Given the description of an element on the screen output the (x, y) to click on. 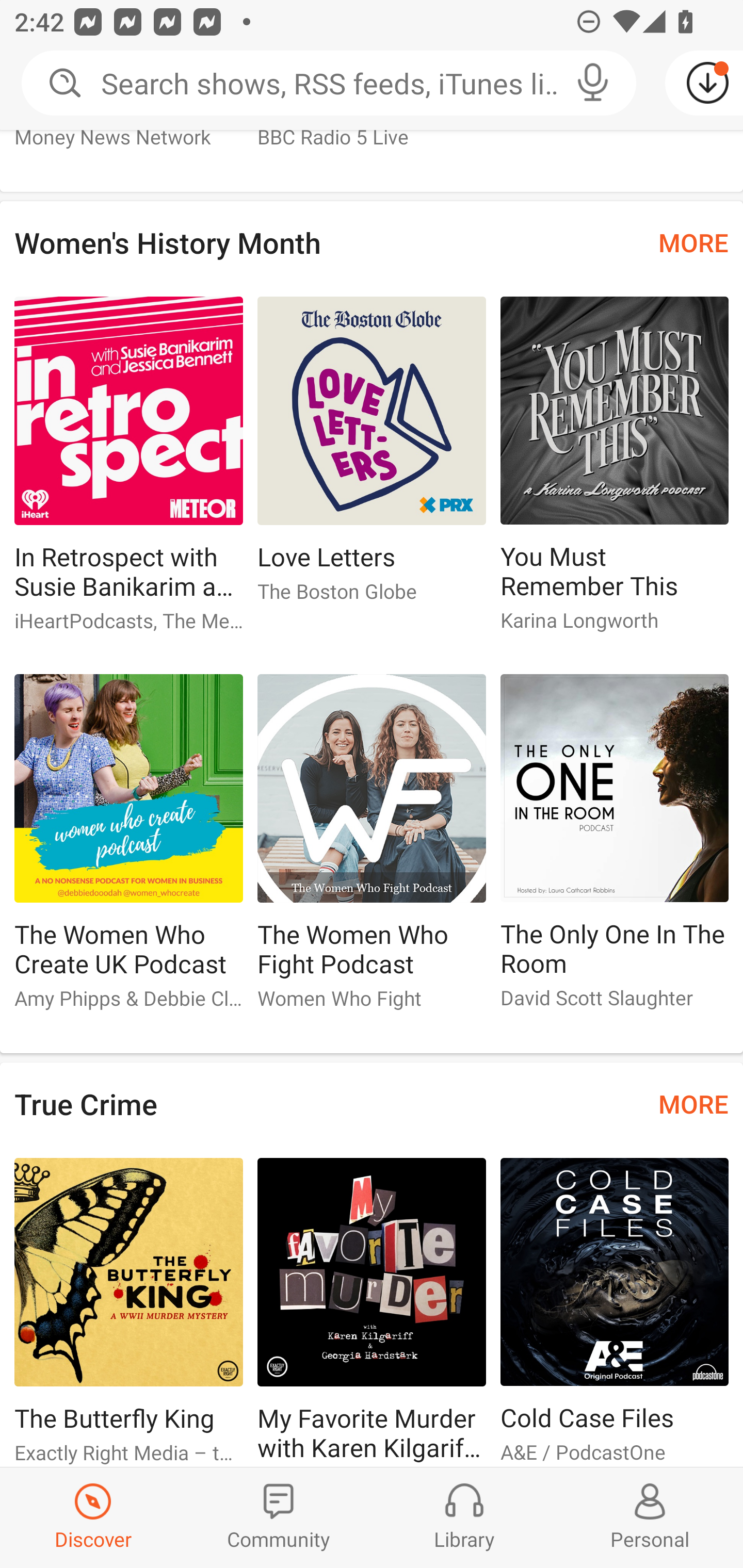
MORE (693, 242)
Love Letters Love Letters The Boston Globe (371, 457)
MORE (693, 1103)
Cold Case Files Cold Case Files A&E / PodcastOne (614, 1312)
Discover (92, 1517)
Community (278, 1517)
Library (464, 1517)
Profiles and Settings Personal (650, 1517)
